Given the description of an element on the screen output the (x, y) to click on. 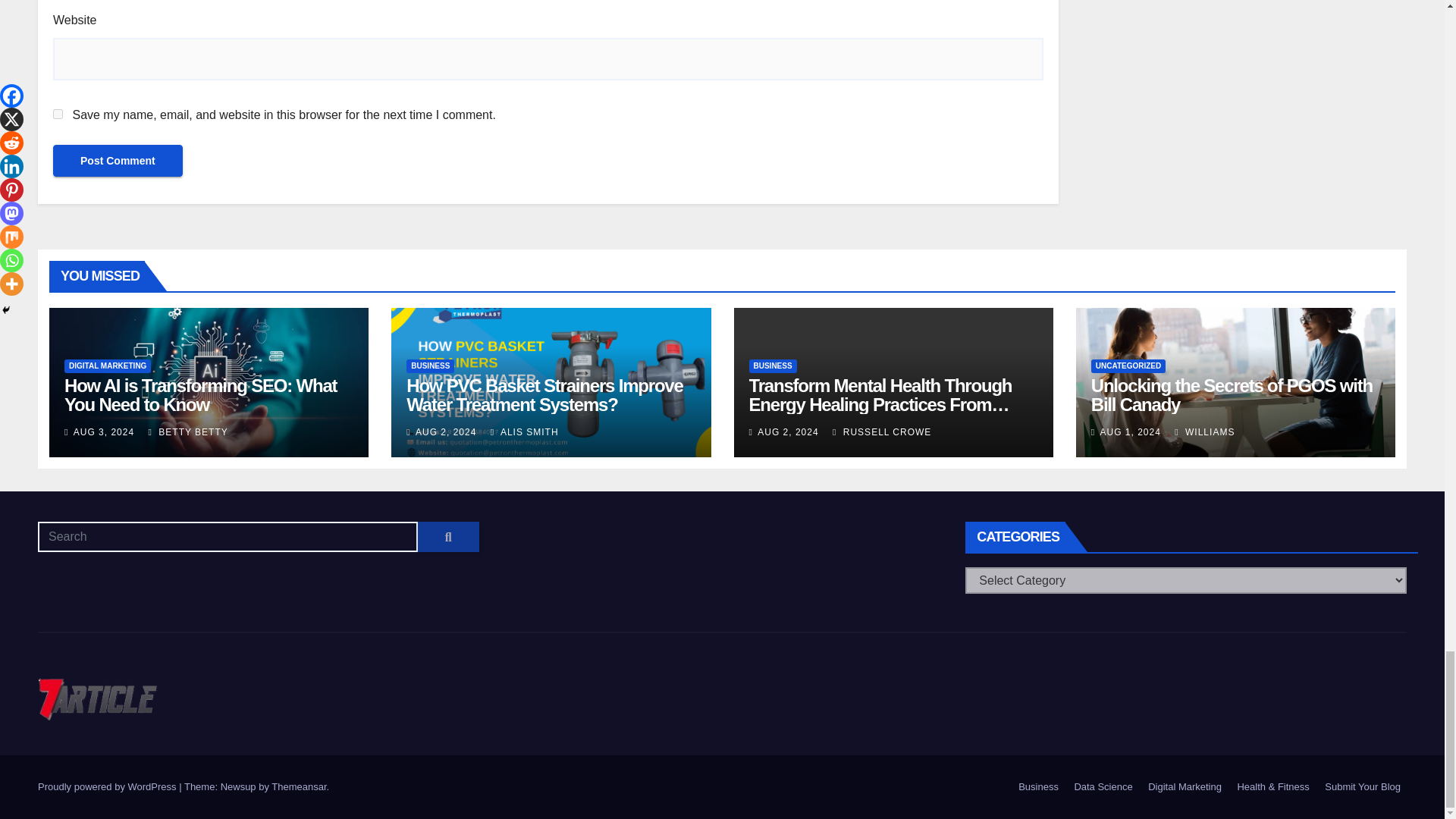
Post Comment (117, 160)
yes (57, 113)
